Given the description of an element on the screen output the (x, y) to click on. 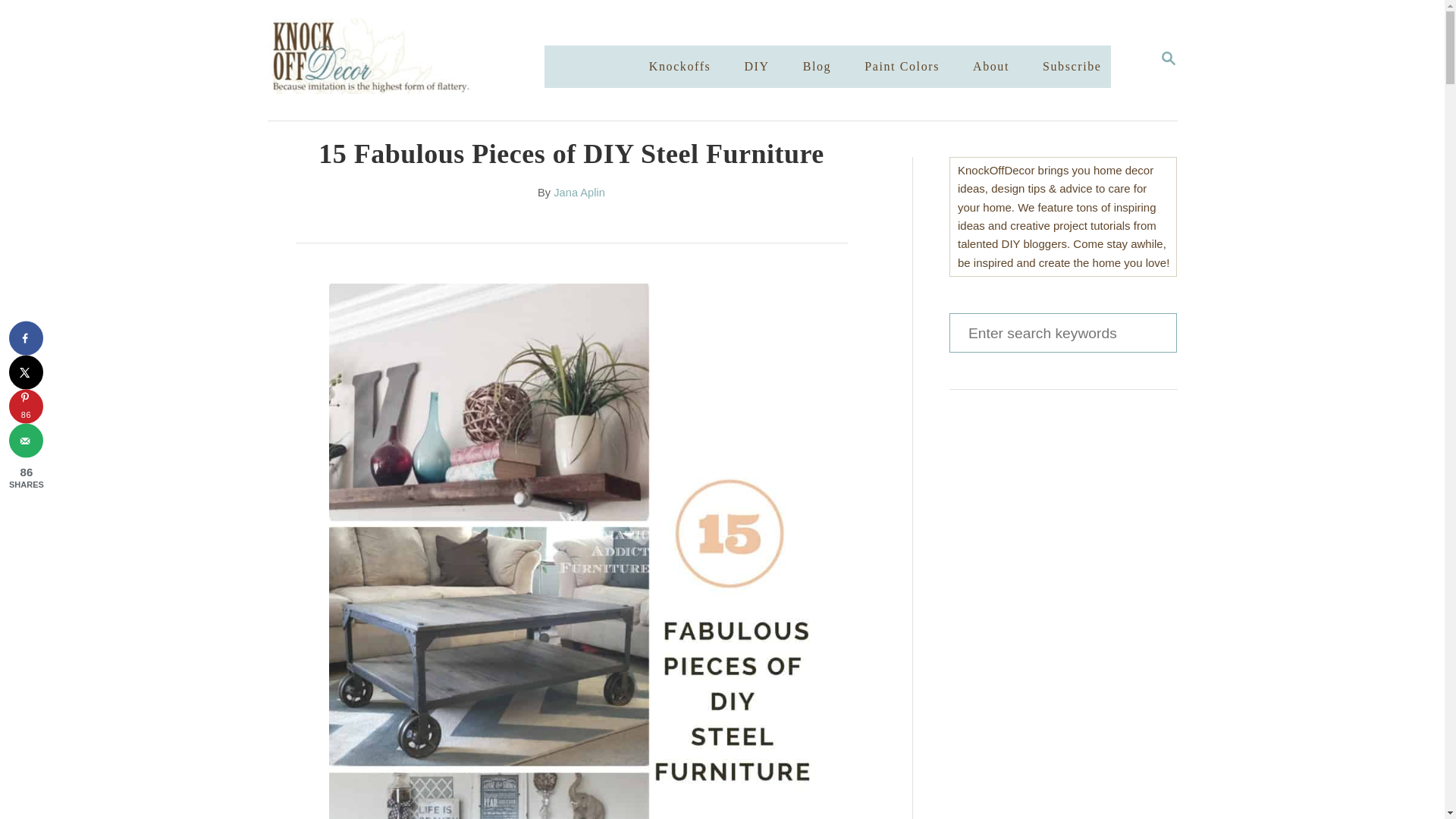
Blog (817, 66)
Knockoffs (680, 66)
Paint Colors (902, 66)
Subscribe (1071, 66)
KnockOffDecor.com (1167, 59)
Share on X (420, 60)
Jana Aplin (25, 372)
Save to Pinterest (579, 192)
About (25, 406)
